Given the description of an element on the screen output the (x, y) to click on. 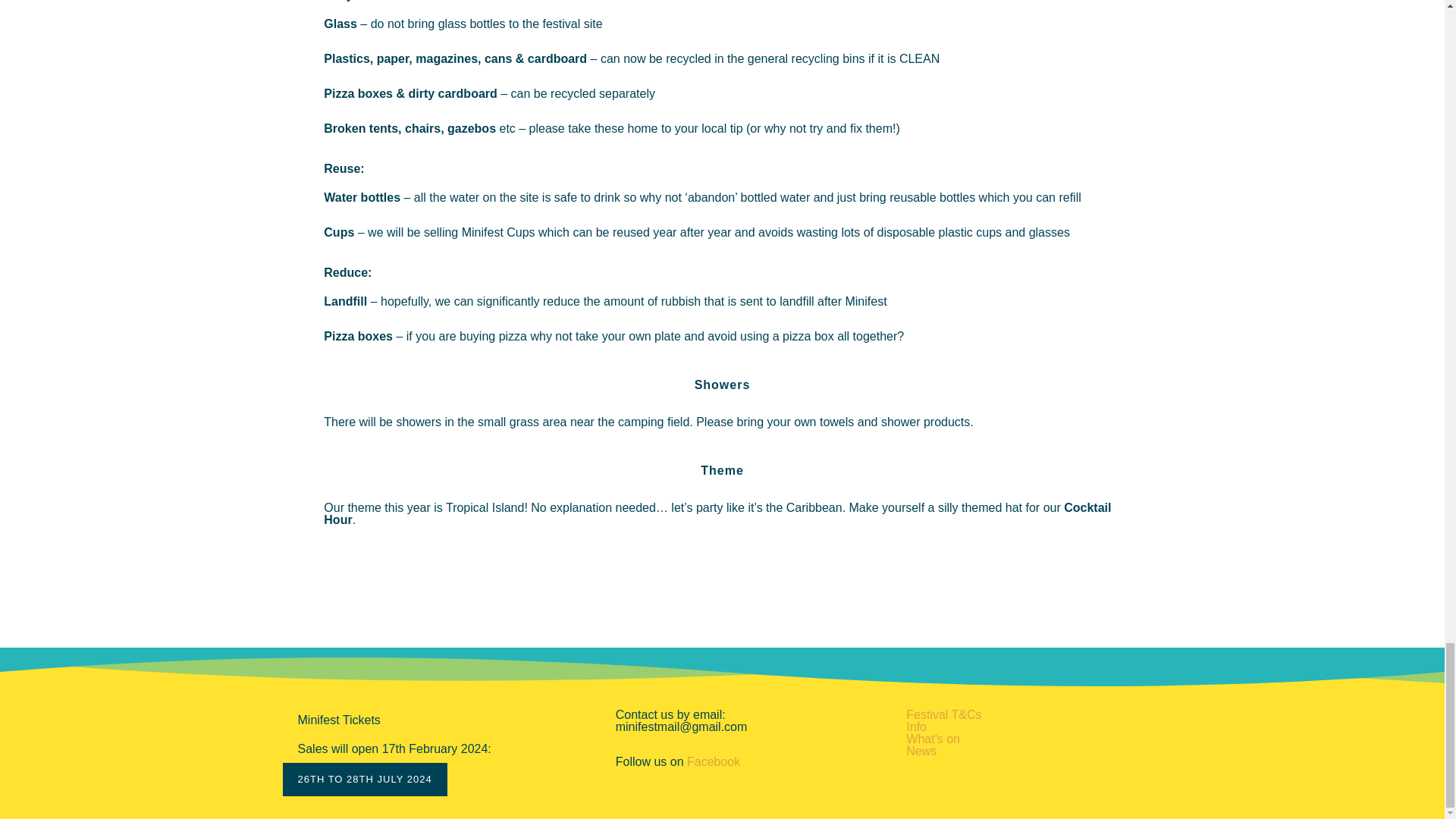
News (920, 750)
Facebook (713, 761)
Info (915, 726)
26TH TO 28TH JULY 2024 (364, 779)
What's on (932, 738)
